Given the description of an element on the screen output the (x, y) to click on. 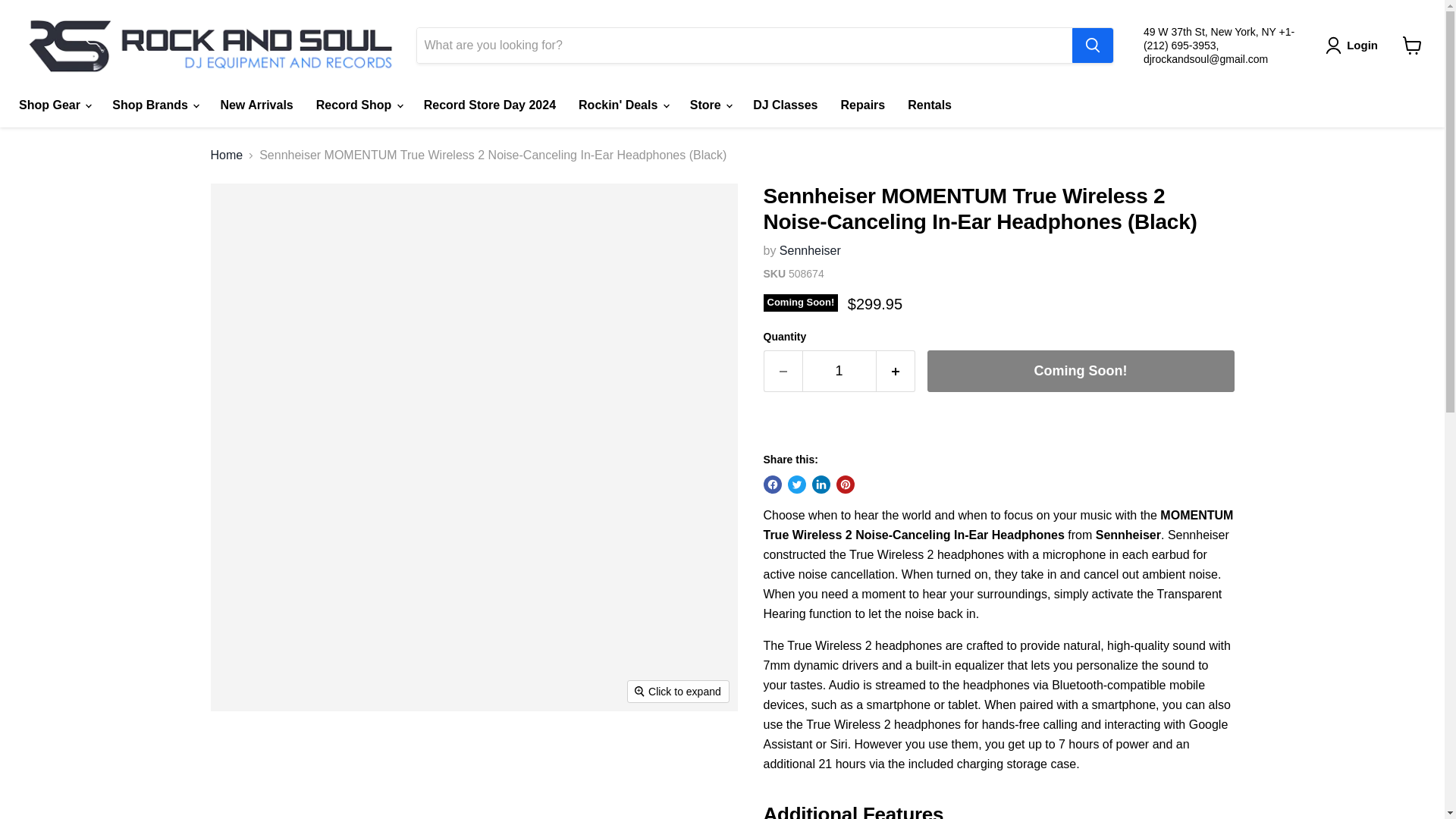
Login (1354, 45)
1 (839, 371)
View cart (1411, 45)
Sennheiser (809, 250)
